Given the description of an element on the screen output the (x, y) to click on. 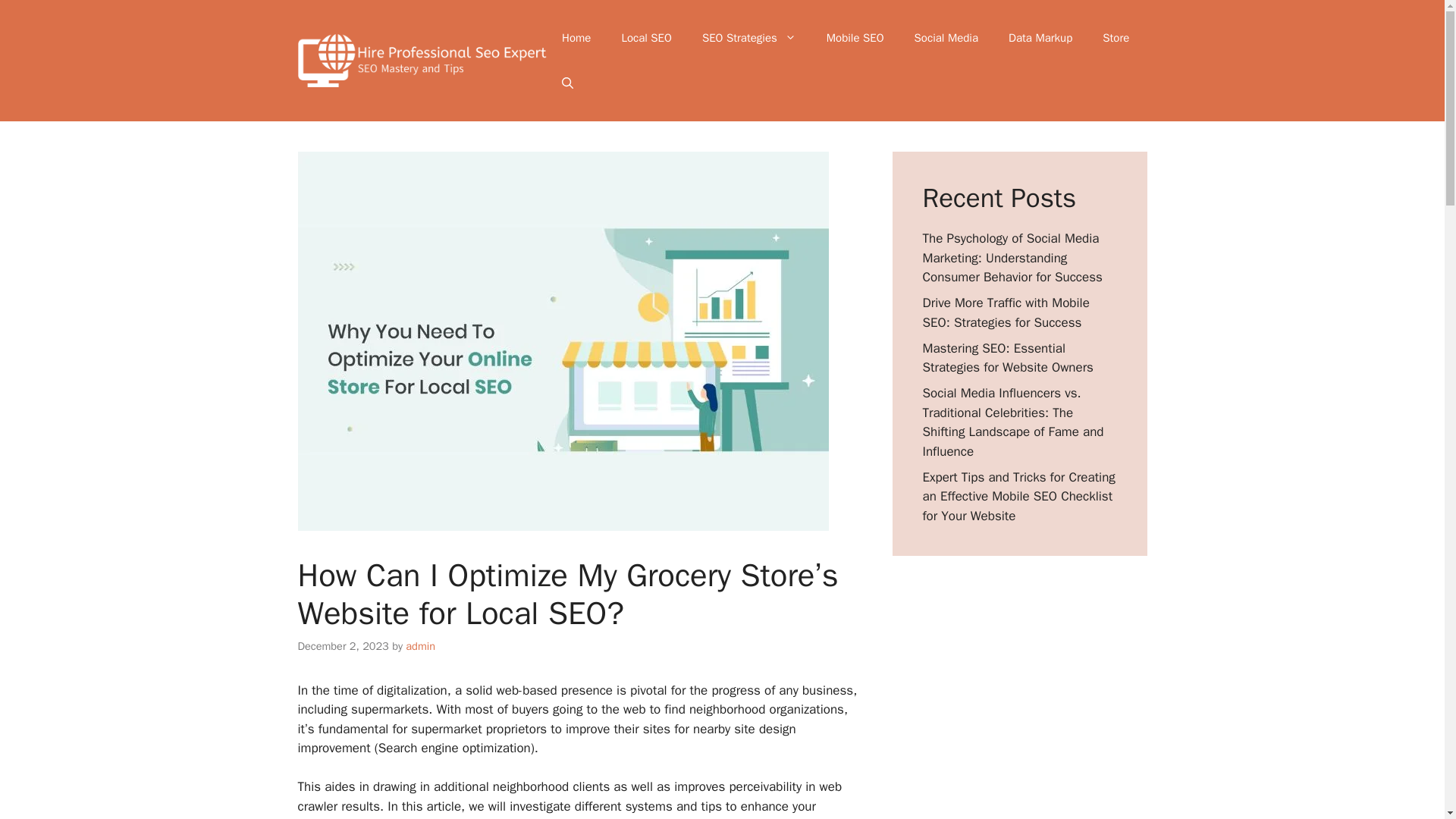
Drive More Traffic with Mobile SEO: Strategies for Success (1005, 312)
SEO Strategies (748, 37)
Mastering SEO: Essential Strategies for Website Owners (1007, 357)
Home (576, 37)
Local SEO (646, 37)
Data Markup (1039, 37)
admin (420, 645)
View all posts by admin (420, 645)
Social Media (945, 37)
Store (1115, 37)
Mobile SEO (854, 37)
